Given the description of an element on the screen output the (x, y) to click on. 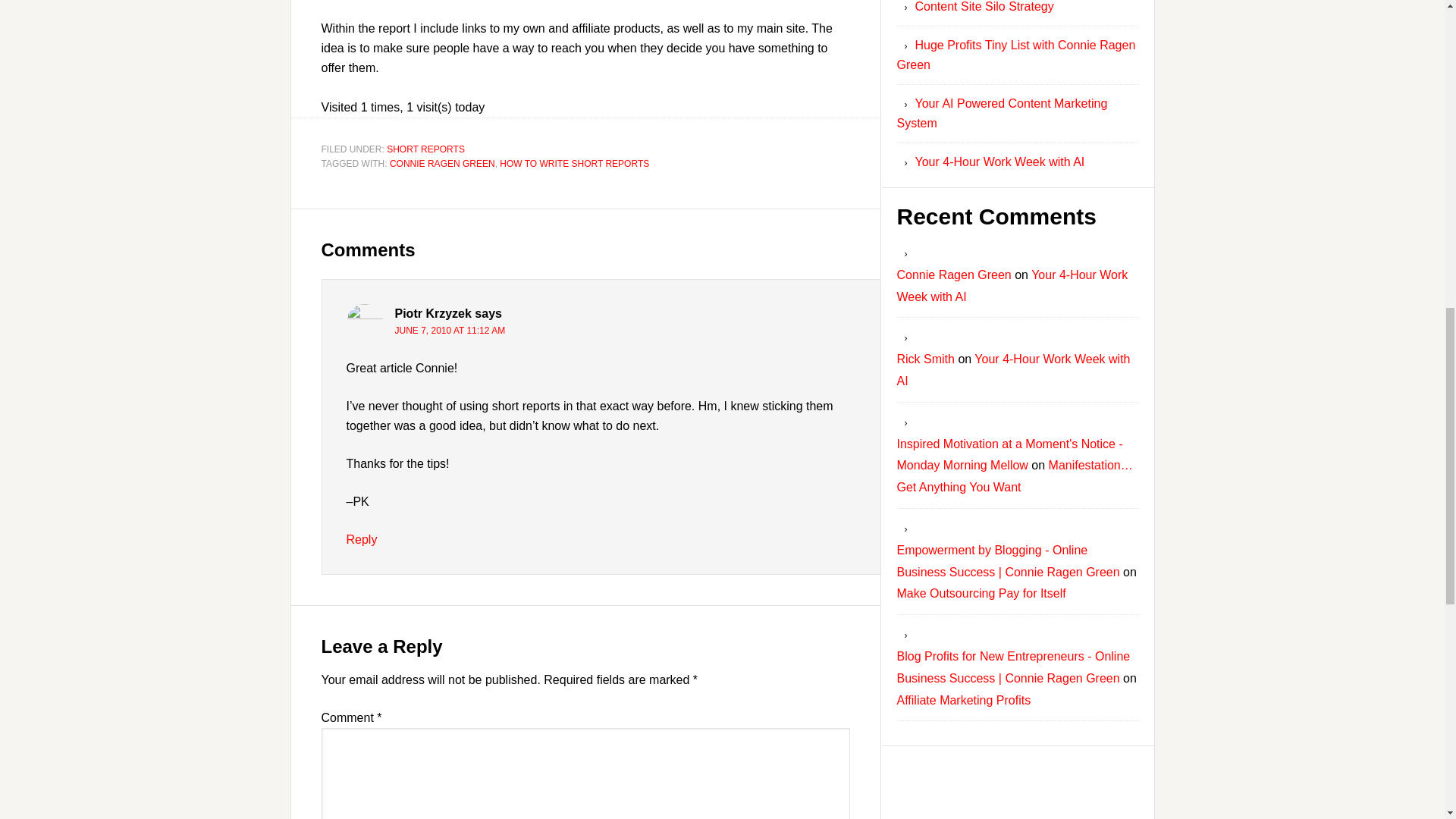
Your AI Powered Content Marketing System (1001, 113)
Content Site Silo Strategy (983, 6)
JUNE 7, 2010 AT 11:12 AM (449, 330)
SHORT REPORTS (425, 149)
Huge Profits Tiny List with Connie Ragen Green (1015, 54)
HOW TO WRITE SHORT REPORTS (574, 163)
CONNIE RAGEN GREEN (442, 163)
Your 4-Hour Work Week with AI (1011, 285)
Make Outsourcing Pay for Itself (980, 593)
Your 4-Hour Work Week with AI (999, 161)
